Given the description of an element on the screen output the (x, y) to click on. 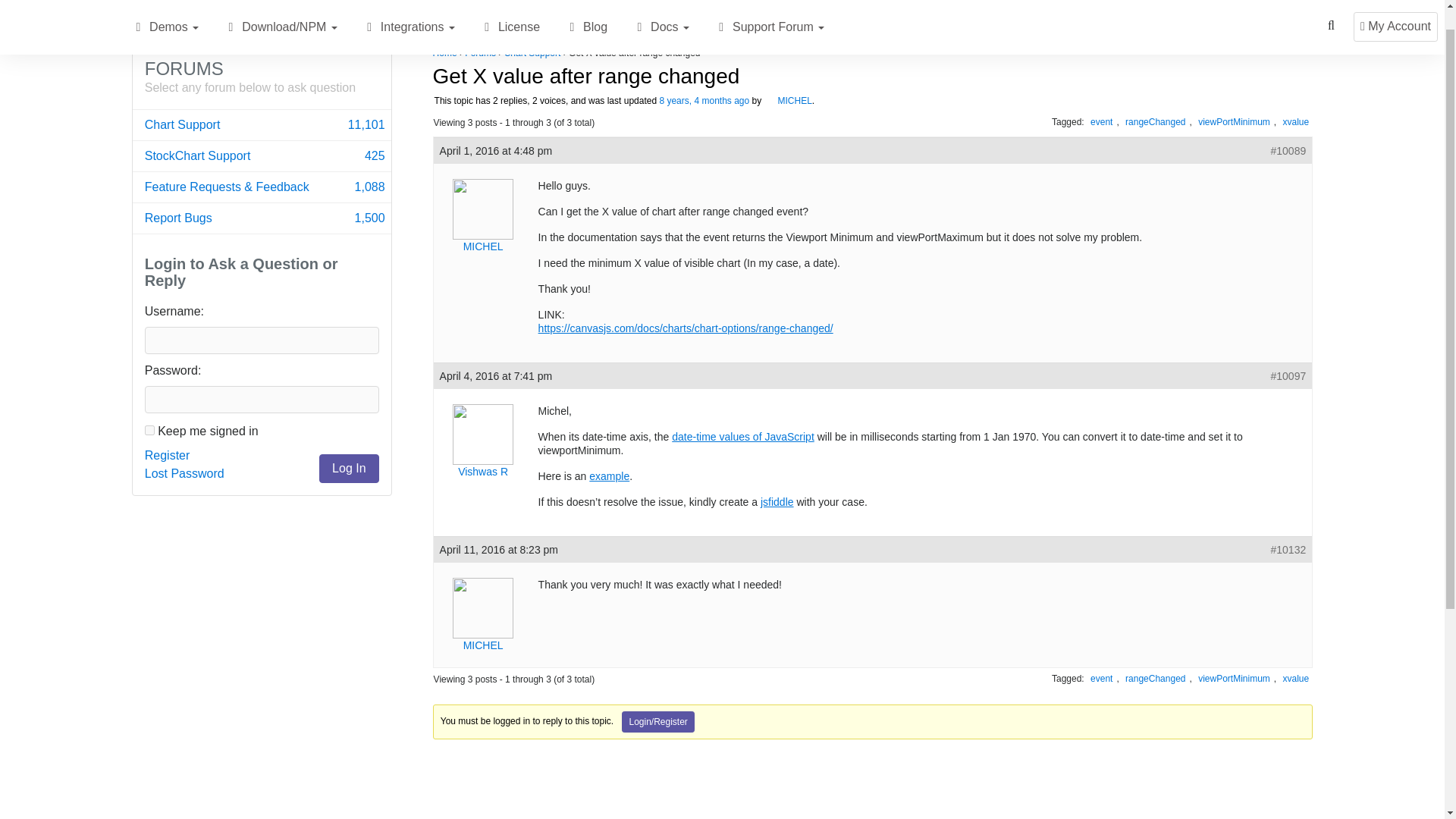
Register (261, 124)
Reply To: Get X value after range changed (167, 455)
Register (704, 100)
Chart Demos (167, 455)
Download (139, 3)
Chart Support (261, 218)
Blog (261, 155)
